Given the description of an element on the screen output the (x, y) to click on. 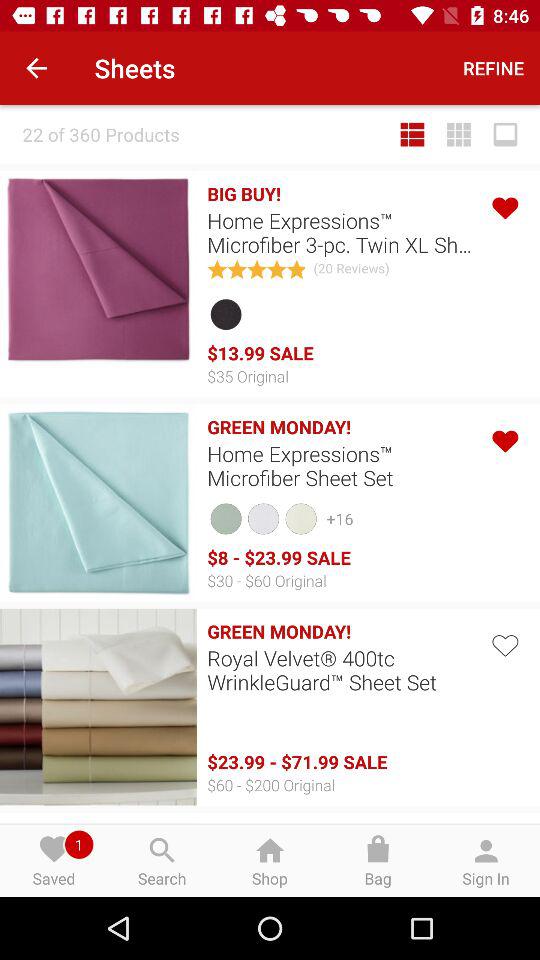
open item below the refine item (505, 134)
